Given the description of an element on the screen output the (x, y) to click on. 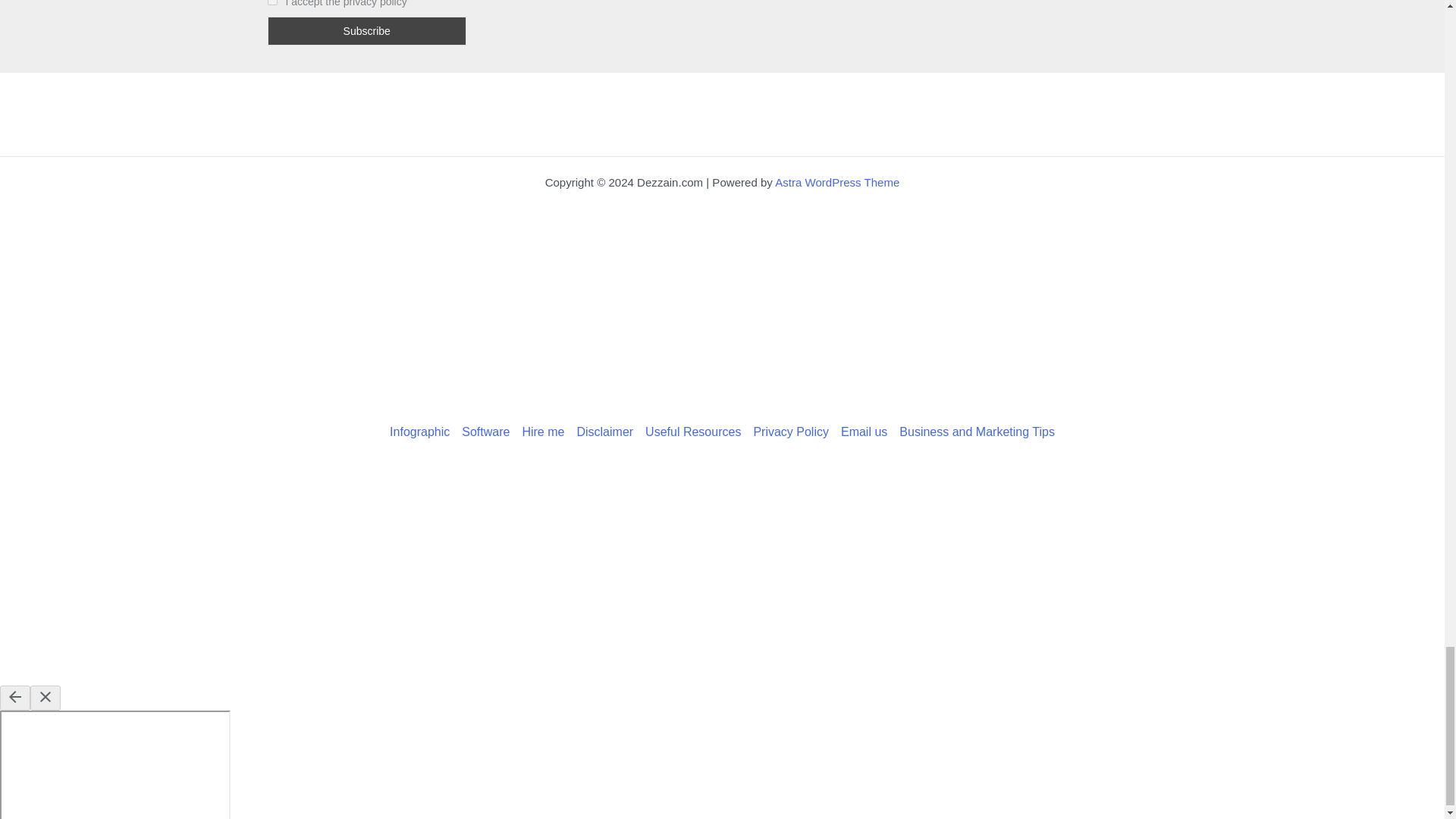
Subscribe (365, 30)
on (271, 2)
